Given the description of an element on the screen output the (x, y) to click on. 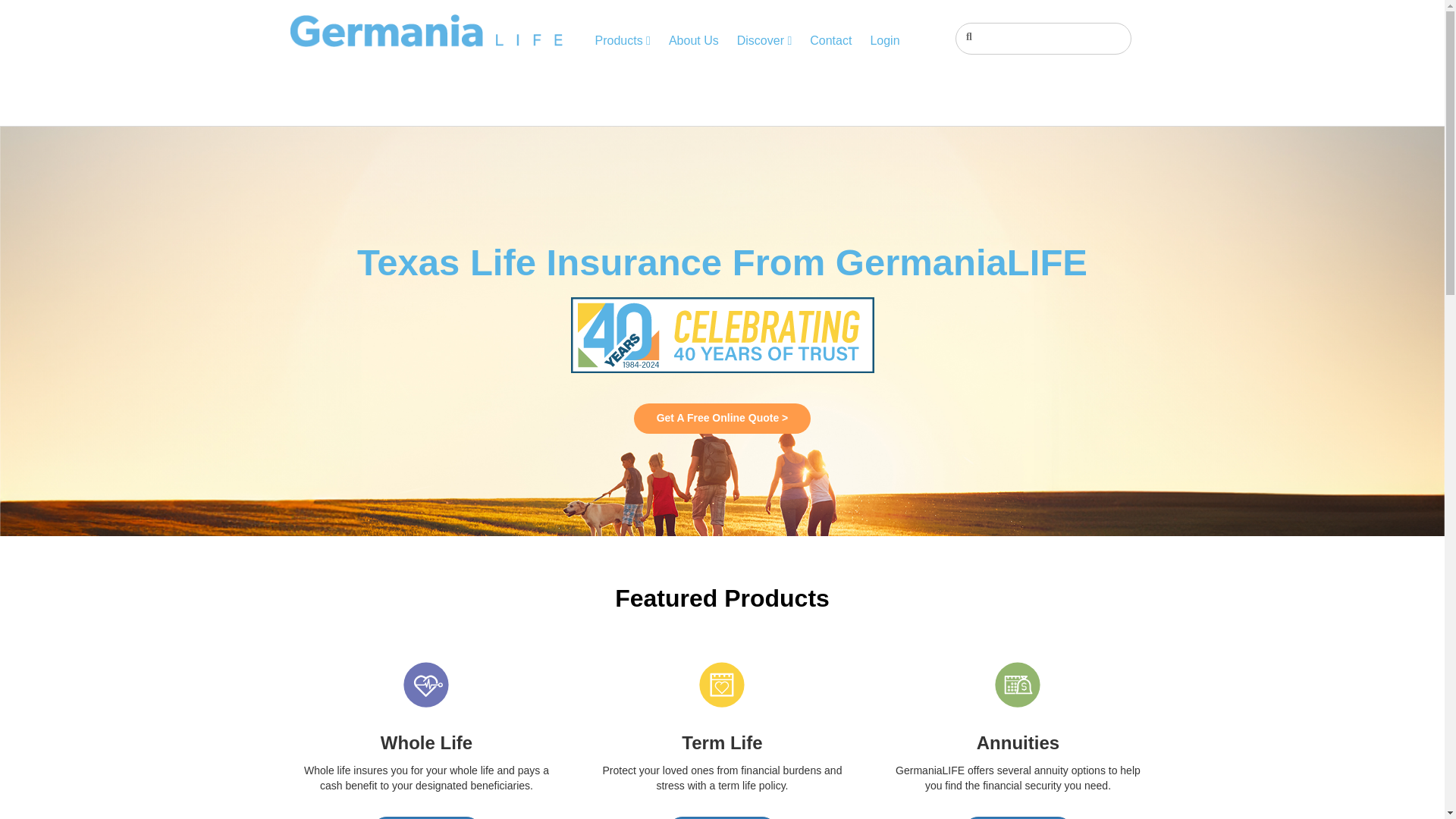
Login (884, 41)
Contact (830, 41)
Discover (765, 41)
About Us (693, 41)
GermaniaLIFE (425, 30)
Products (622, 41)
